Given the description of an element on the screen output the (x, y) to click on. 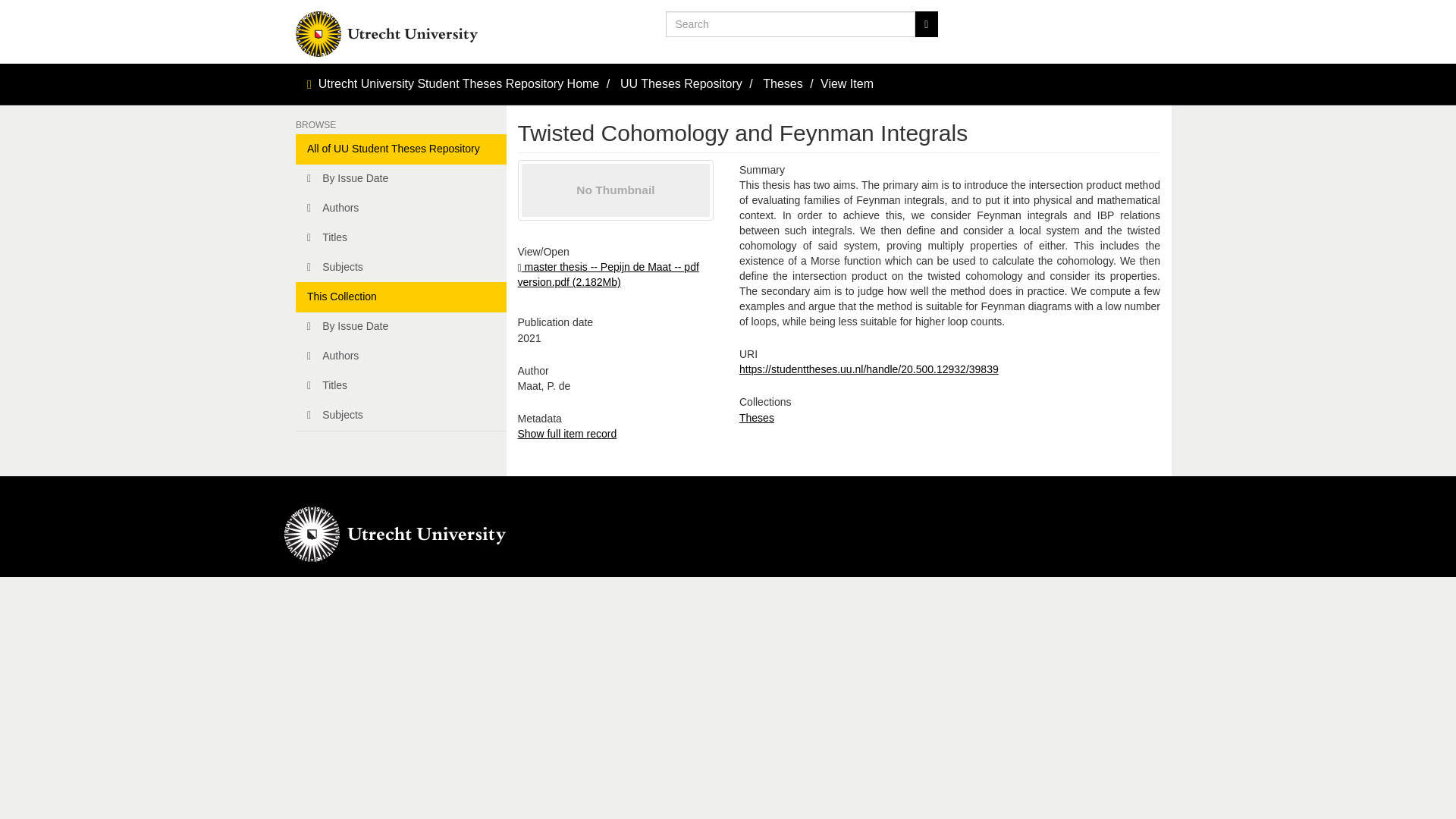
Utrecht University Student Theses Repository Home (458, 83)
Go (925, 23)
UU Theses Repository (681, 83)
By Issue Date (400, 327)
Show full item record (565, 433)
Titles (400, 386)
All of UU Student Theses Repository (400, 149)
This Collection (400, 296)
Authors (400, 208)
Theses (756, 417)
Subjects (400, 267)
Subjects (400, 415)
Titles (400, 237)
By Issue Date (400, 178)
Theses (782, 83)
